Given the description of an element on the screen output the (x, y) to click on. 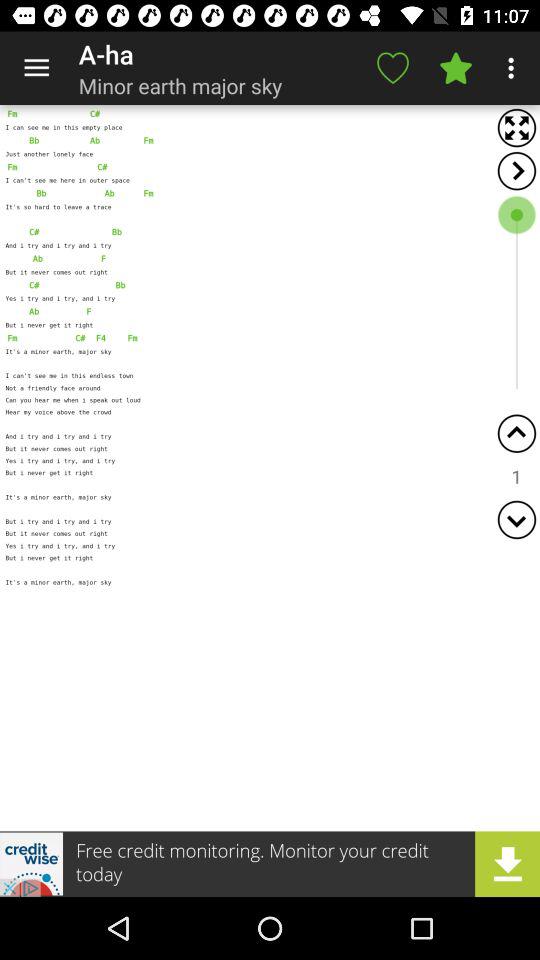
advertisement (270, 864)
